Given the description of an element on the screen output the (x, y) to click on. 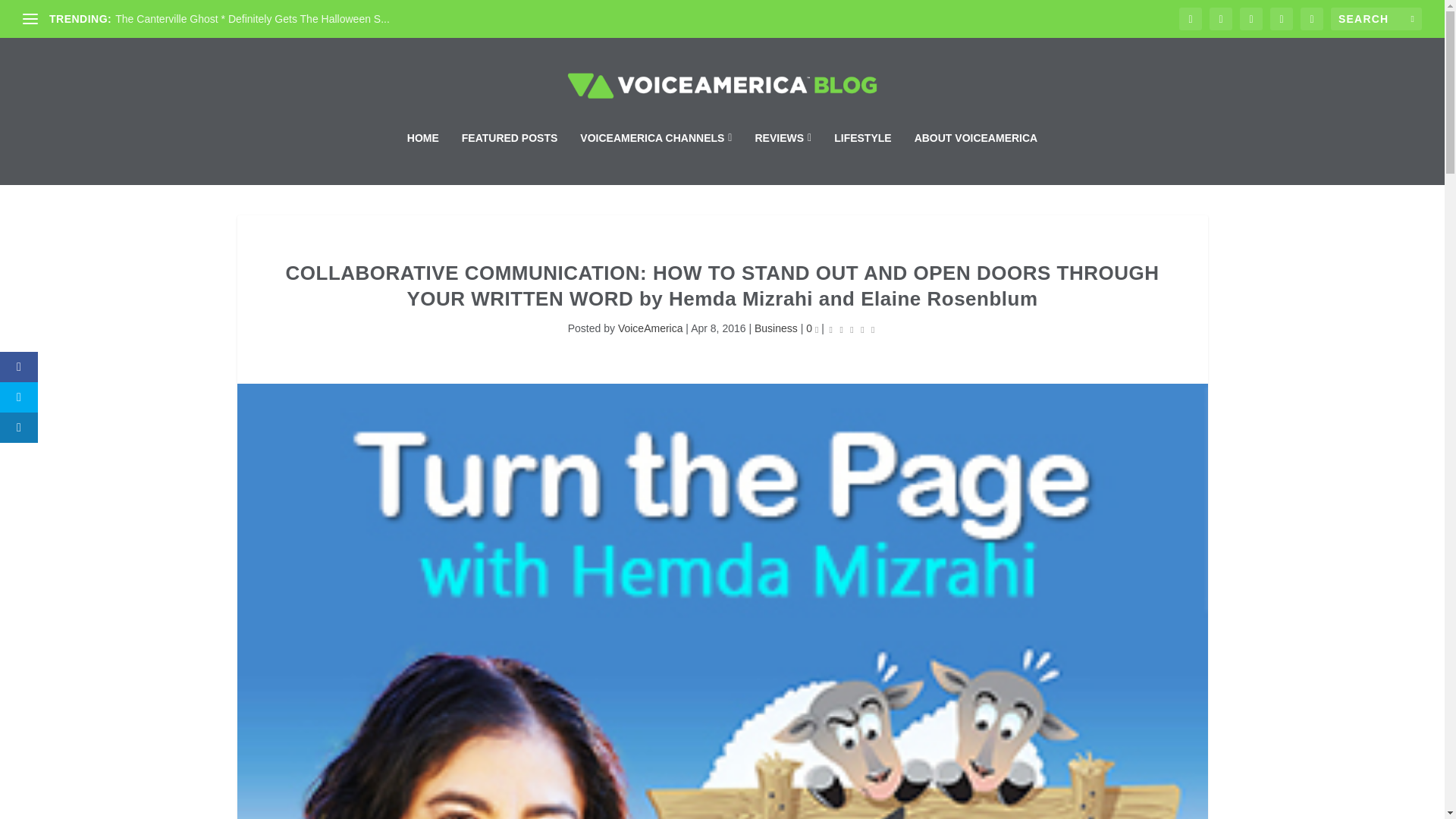
comment count (816, 330)
Search for: (1376, 18)
Rating: 0.00 (852, 329)
Posts by VoiceAmerica (649, 328)
